Given the description of an element on the screen output the (x, y) to click on. 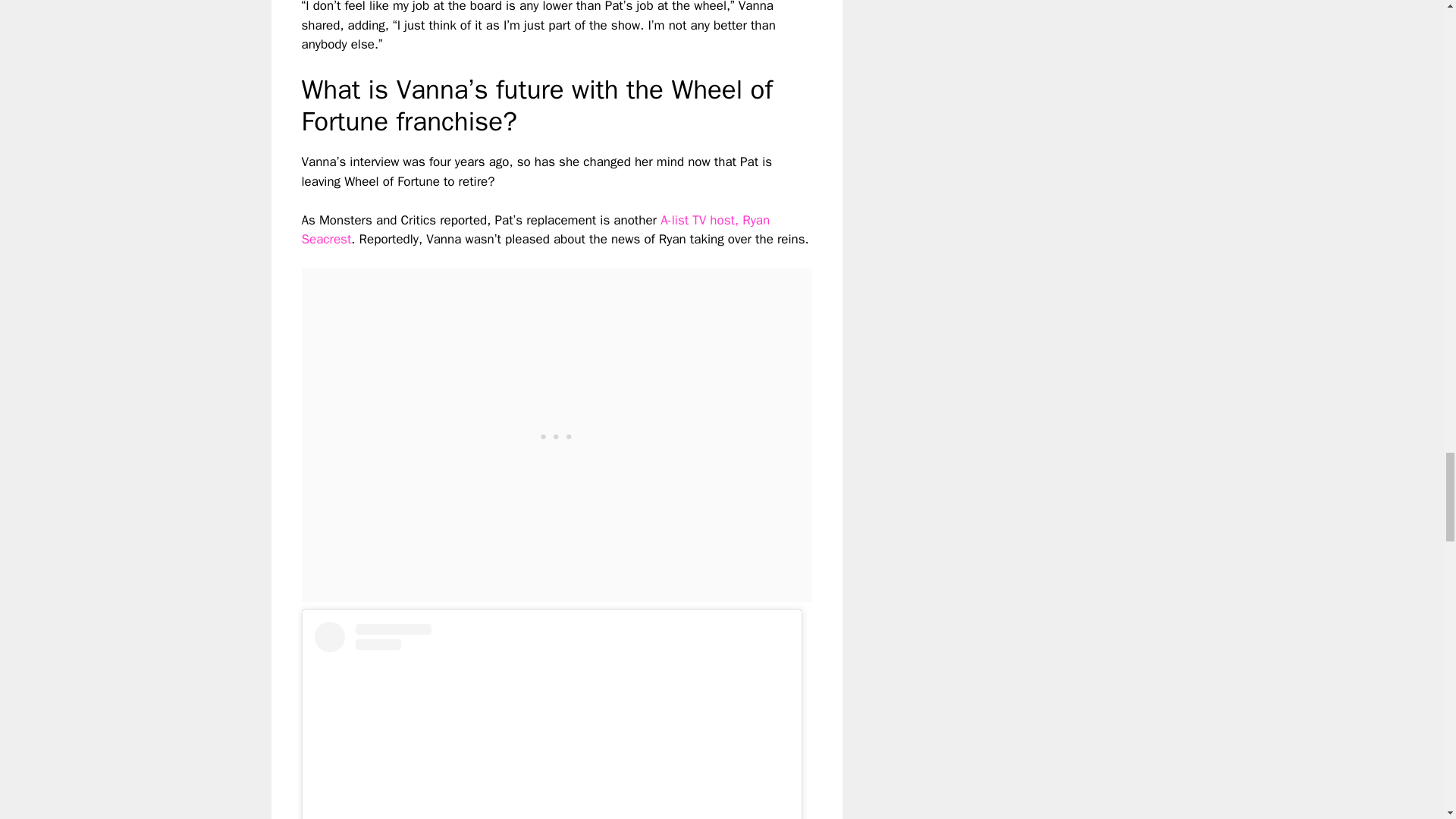
A-list TV host, Ryan Seacrest (535, 230)
View this post on Instagram (551, 720)
